Given the description of an element on the screen output the (x, y) to click on. 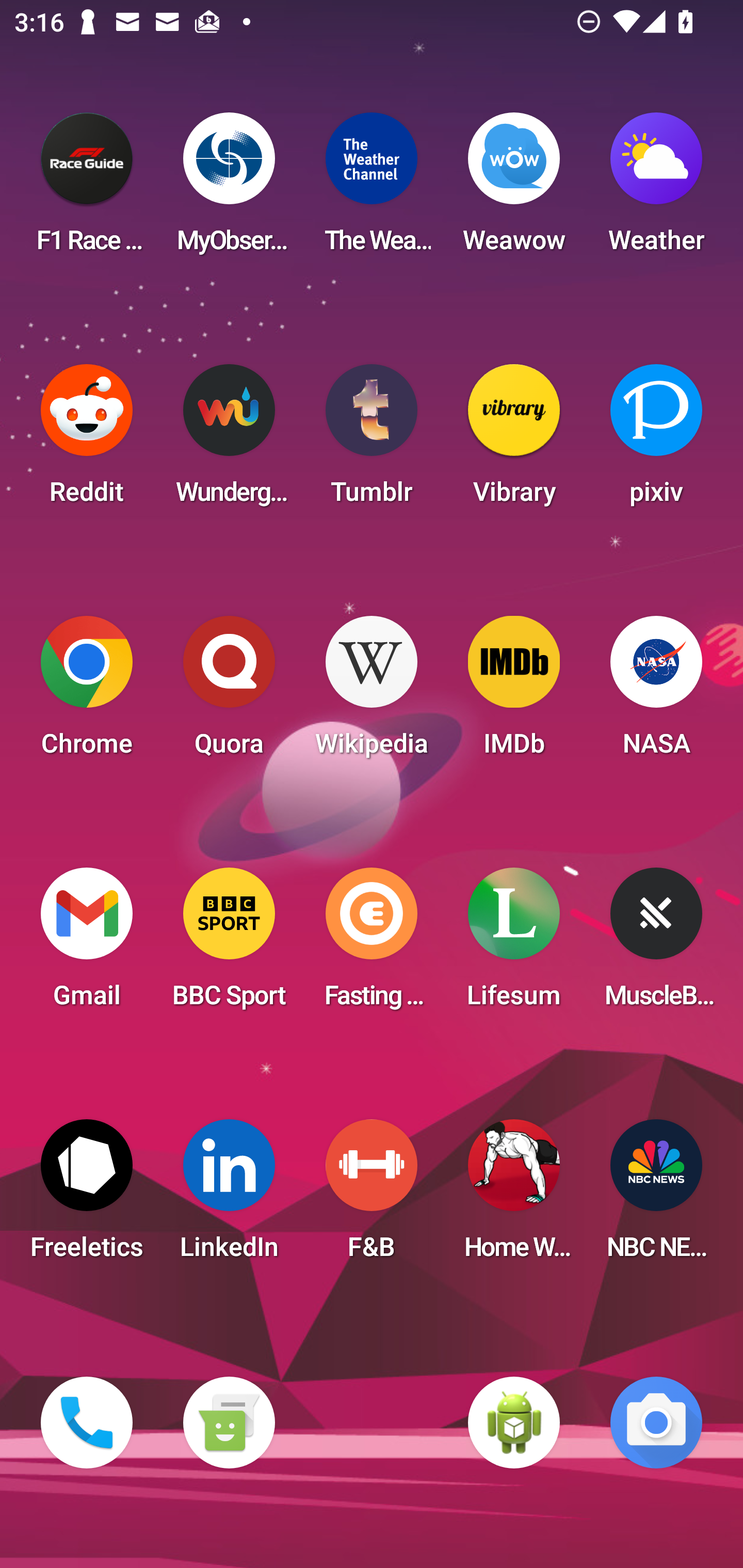
F1 Race Guide (86, 188)
MyObservatory (228, 188)
The Weather Channel (371, 188)
Weawow (513, 188)
Weather (656, 188)
Reddit (86, 440)
Wunderground (228, 440)
Tumblr (371, 440)
Vibrary (513, 440)
pixiv (656, 440)
Chrome (86, 692)
Quora (228, 692)
Wikipedia (371, 692)
IMDb (513, 692)
NASA (656, 692)
Gmail (86, 943)
BBC Sport (228, 943)
Fasting Coach (371, 943)
Lifesum (513, 943)
MuscleBooster (656, 943)
Freeletics (86, 1195)
LinkedIn (228, 1195)
F&B (371, 1195)
Home Workout (513, 1195)
NBC NEWS (656, 1195)
Phone (86, 1422)
Messaging (228, 1422)
WebView Browser Tester (513, 1422)
Camera (656, 1422)
